Given the description of an element on the screen output the (x, y) to click on. 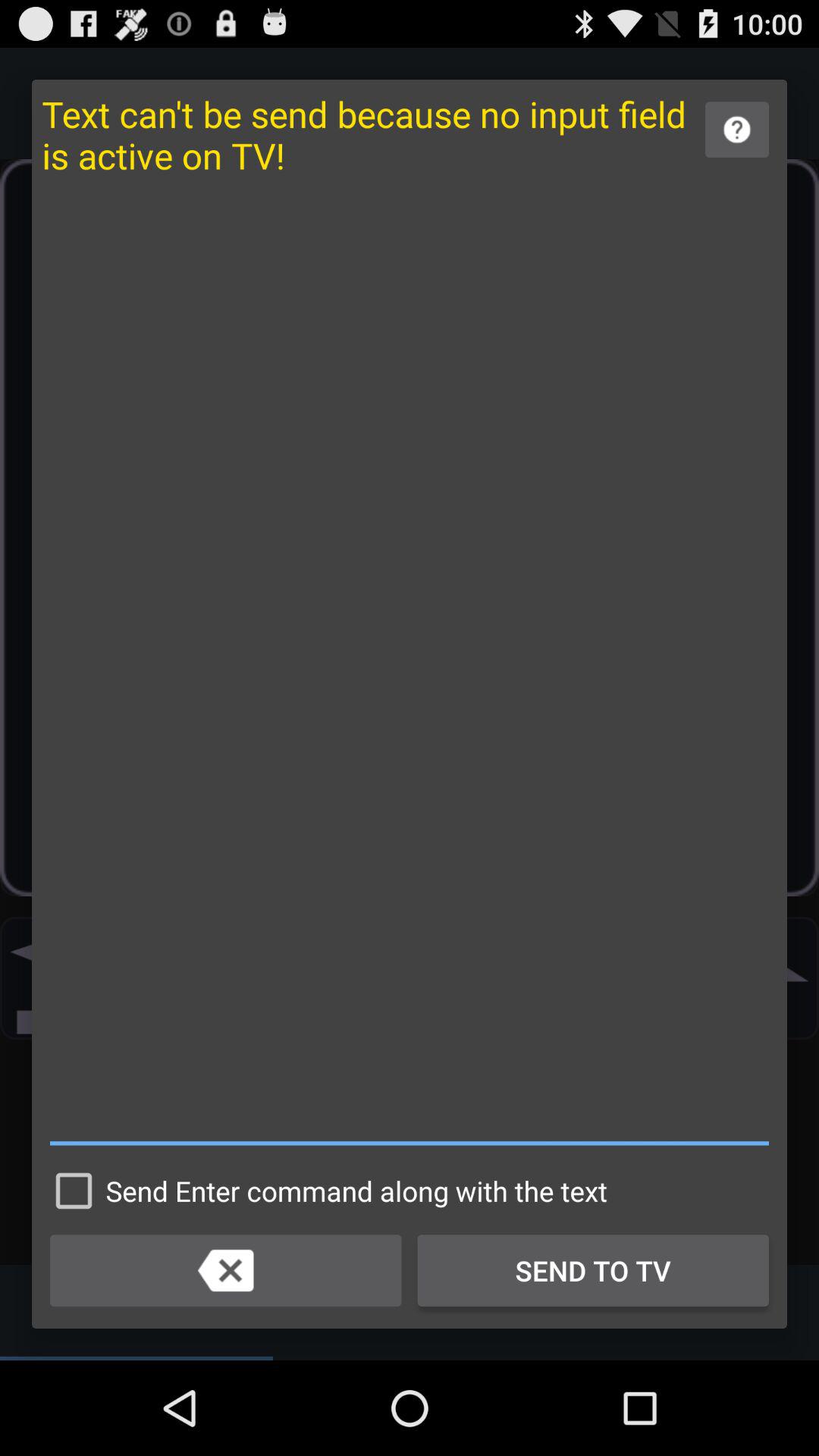
jump until send enter command (324, 1190)
